Given the description of an element on the screen output the (x, y) to click on. 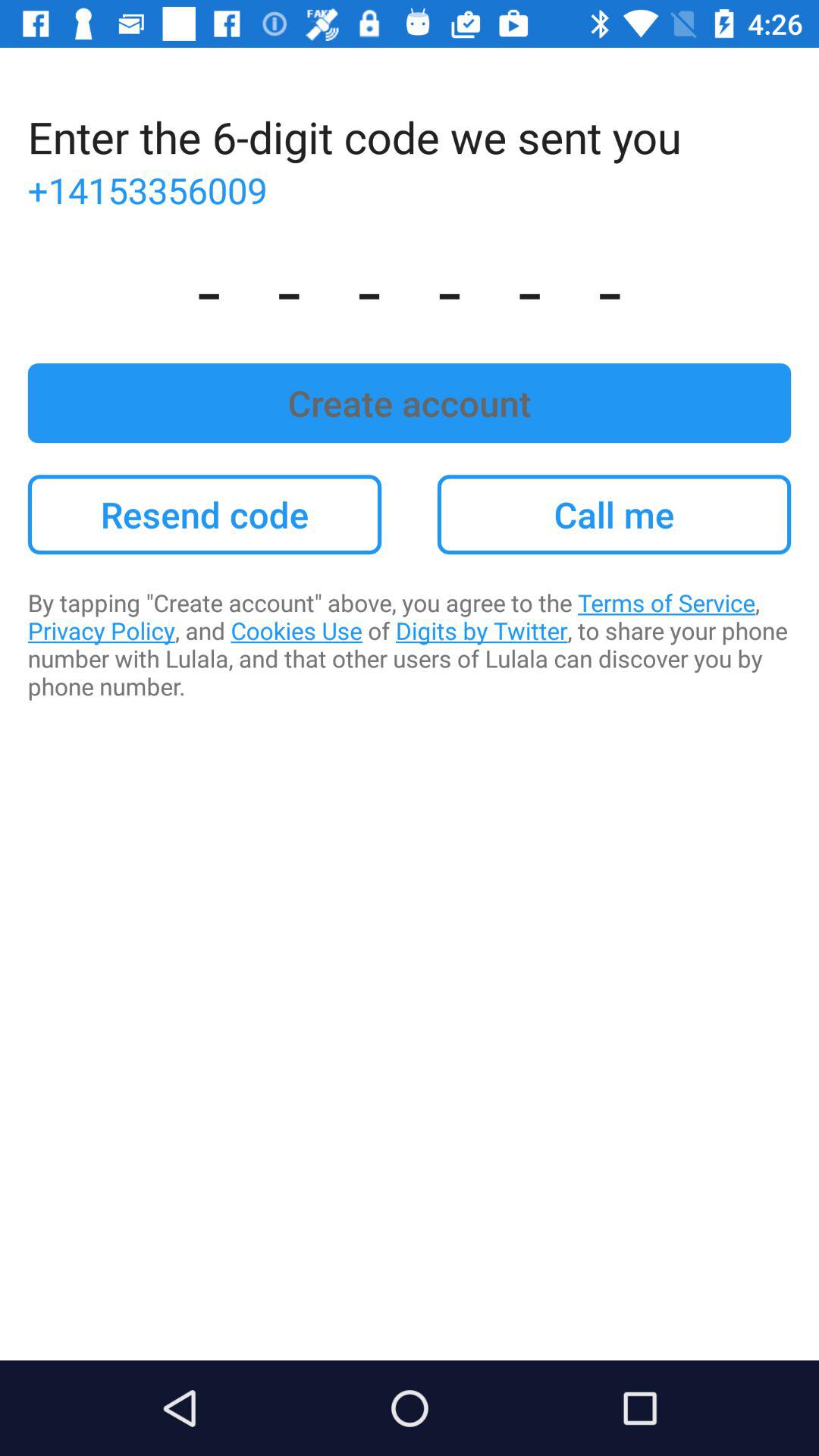
scroll until the - - - - - - item (409, 288)
